Given the description of an element on the screen output the (x, y) to click on. 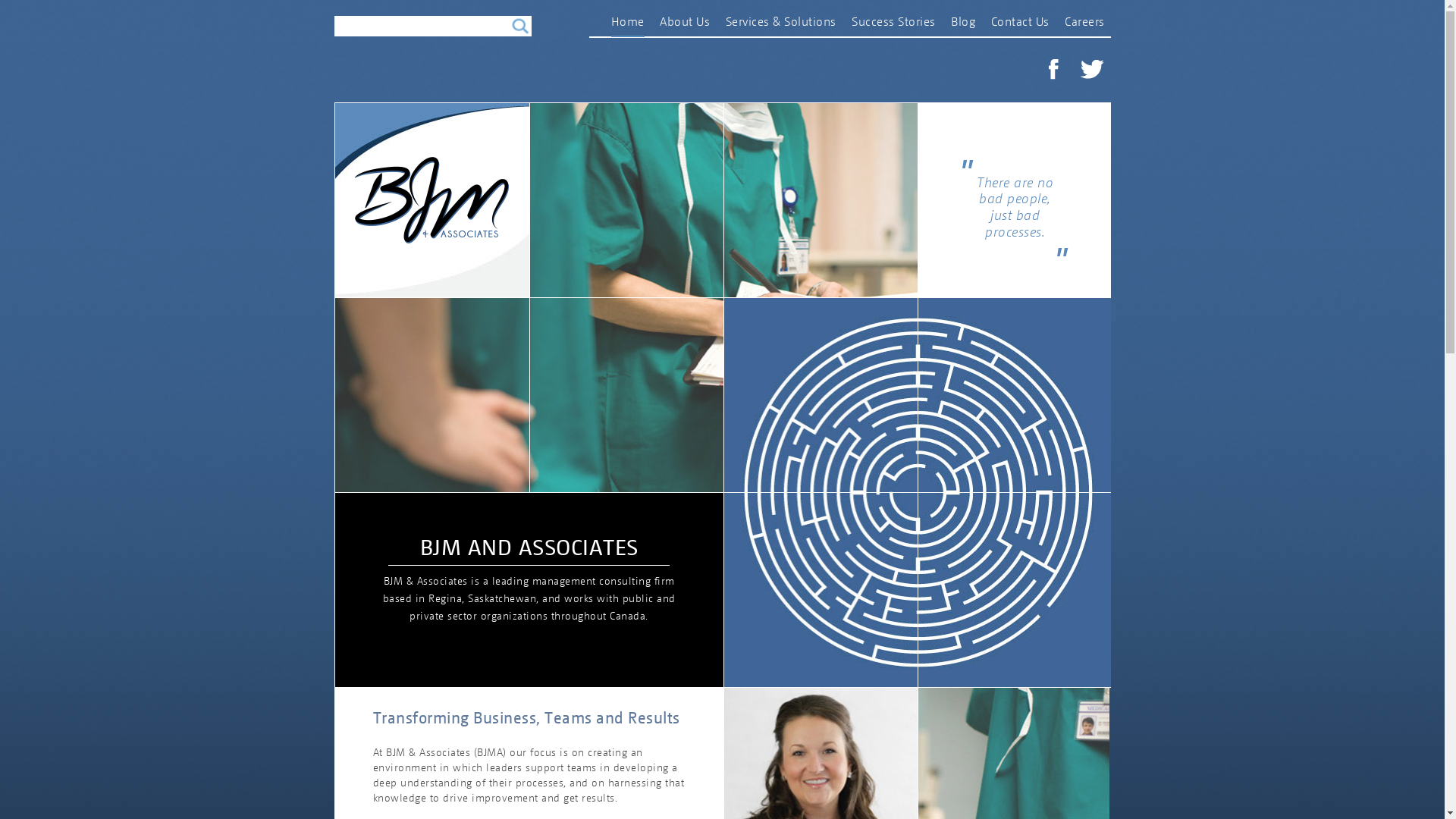
About Us Element type: text (684, 24)
Services & Solutions Element type: text (779, 24)
Success Stories Element type: text (893, 24)
Blog Element type: text (962, 24)
Careers Element type: text (1084, 24)
Home Element type: text (627, 25)
Contact Us Element type: text (1019, 24)
